Given the description of an element on the screen output the (x, y) to click on. 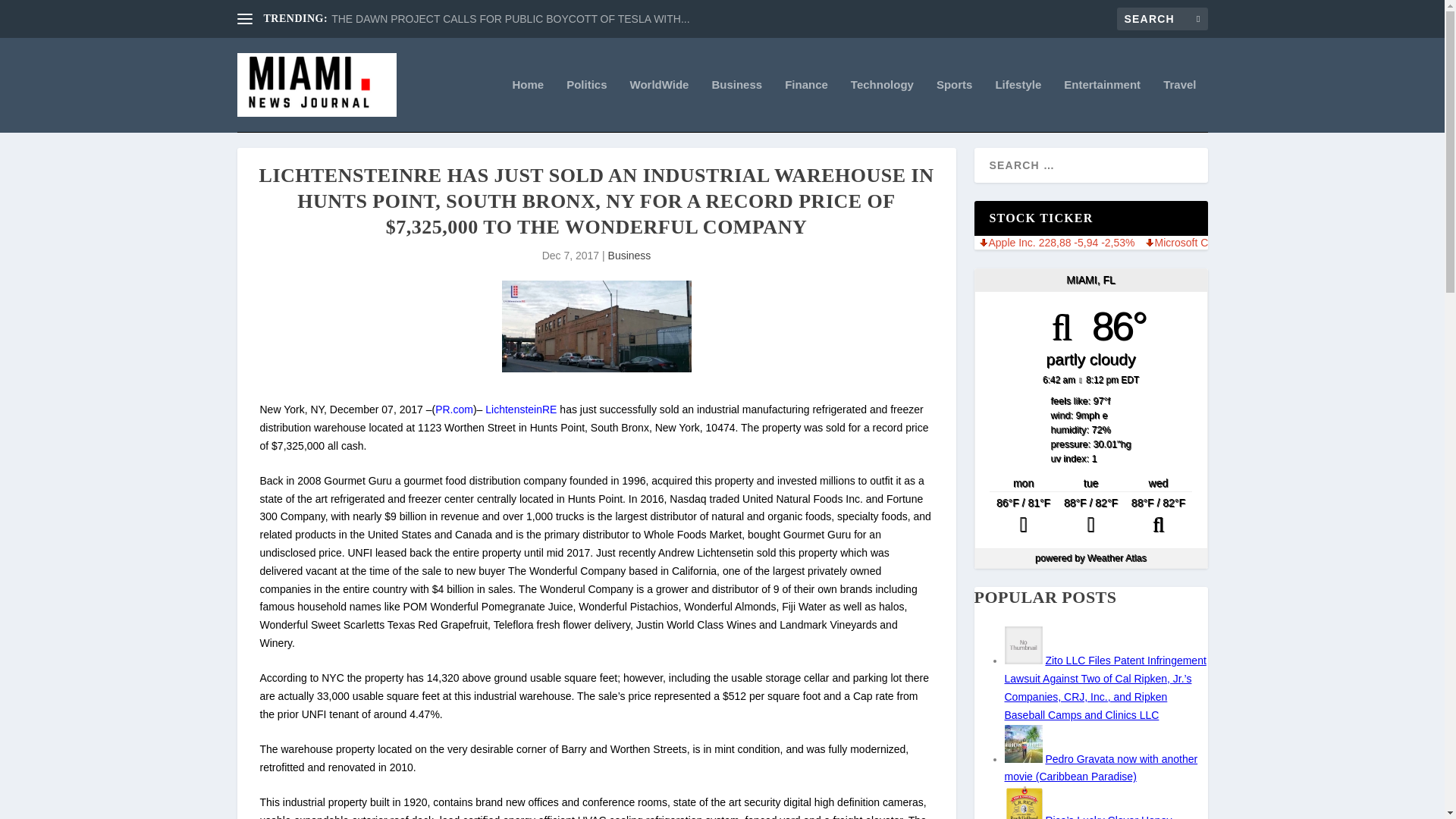
PR.com (454, 409)
Search for: (1161, 18)
WorldWide (659, 104)
Business (629, 255)
LichtensteinRE (520, 409)
Entertainment (1102, 104)
THE DAWN PROJECT CALLS FOR PUBLIC BOYCOTT OF TESLA WITH... (509, 19)
Business (736, 104)
Technology (882, 104)
